Given the description of an element on the screen output the (x, y) to click on. 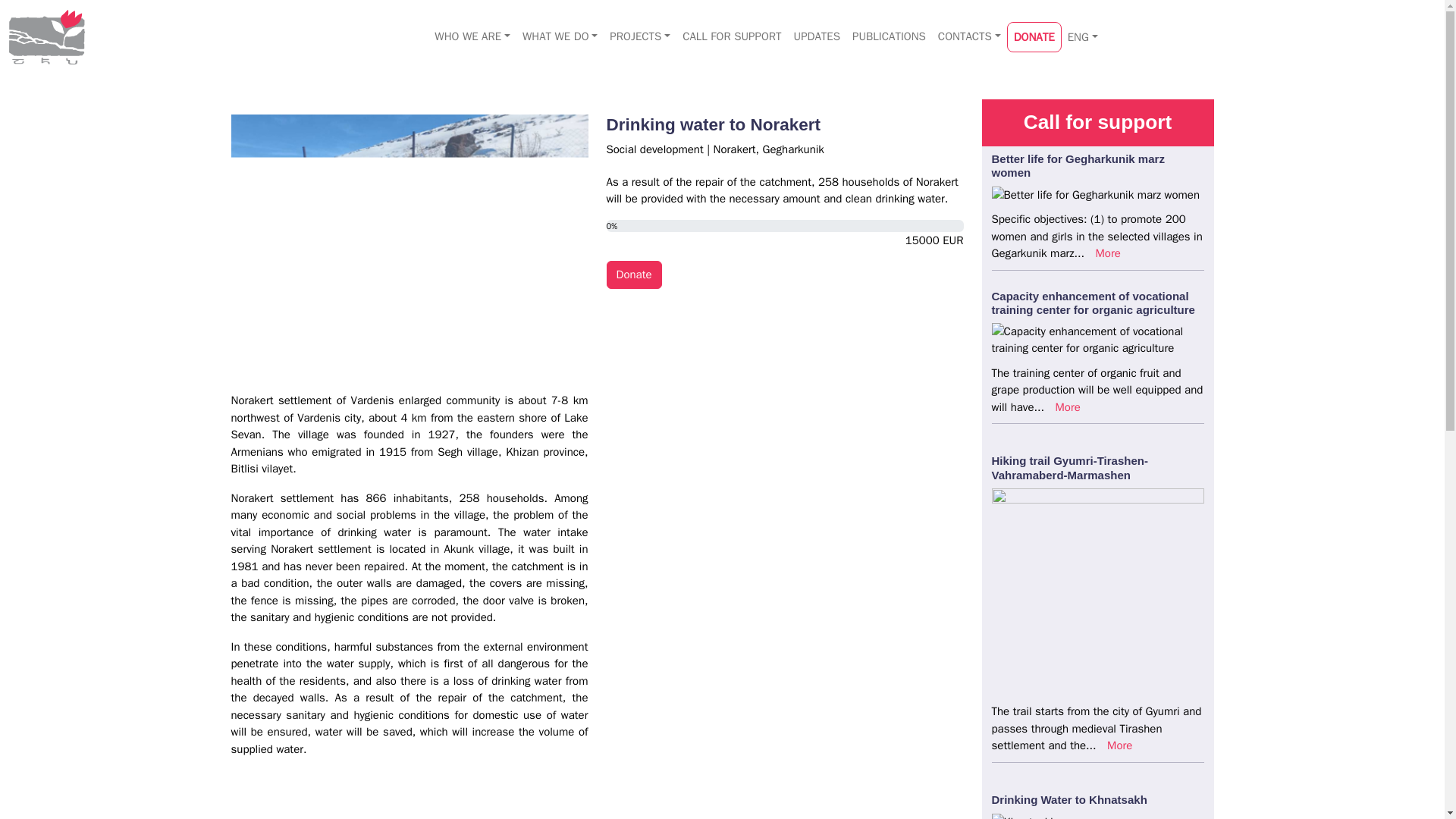
DONATE (1034, 37)
Hiking trail Gyumri-Tirashen-Vahramaberd-Marmashen (1069, 467)
PUBLICATIONS (888, 36)
Donate (634, 275)
More (1067, 407)
More (1119, 745)
ENG (1082, 37)
Hiking trail Gyumri-Tirashen-Vahramaberd-Marmashen (1069, 467)
Drinking Water to Khnatsakh (1069, 799)
